Given the description of an element on the screen output the (x, y) to click on. 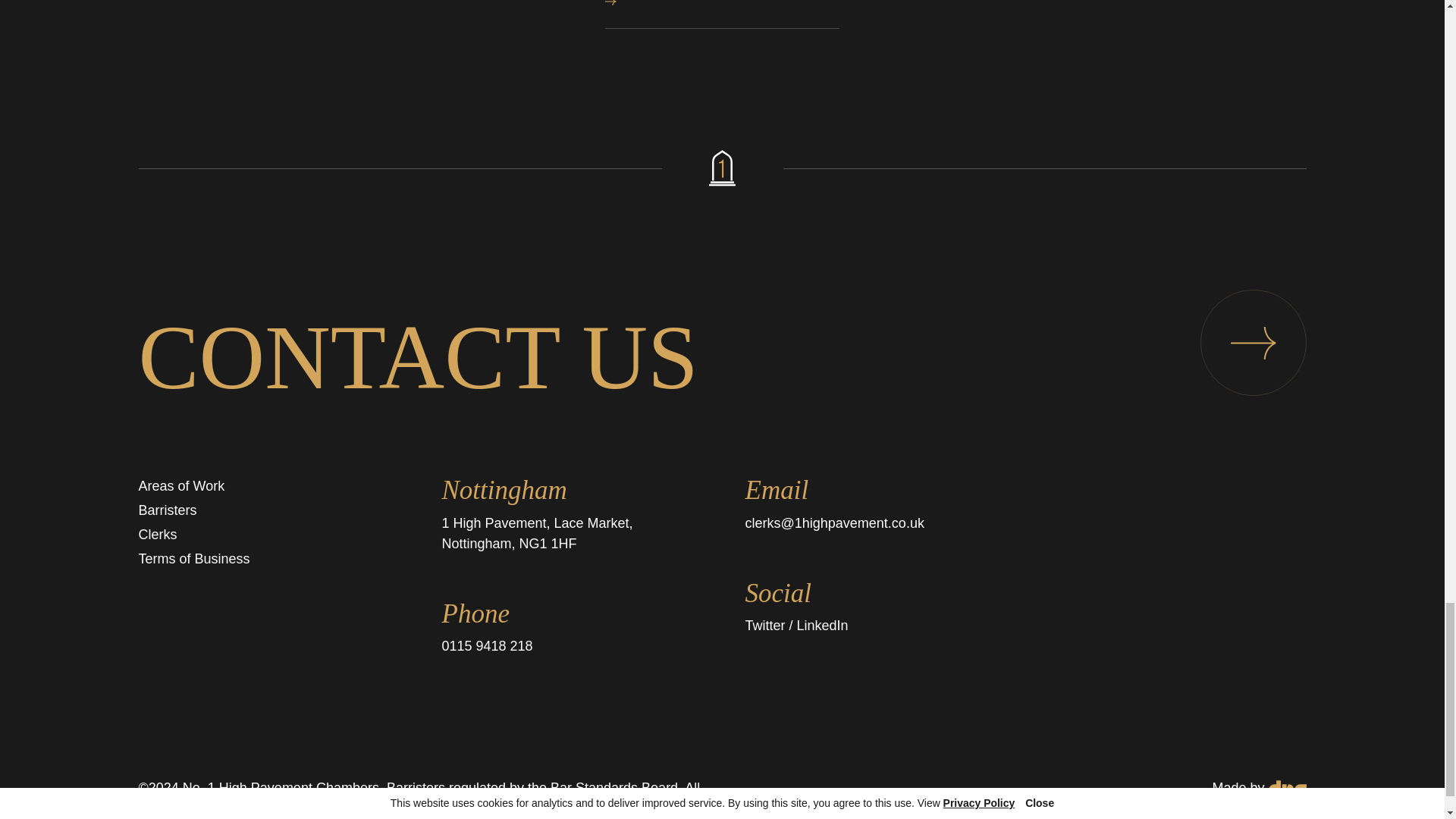
CONTACT US (722, 357)
Clerks (157, 534)
Areas of Work (722, 14)
Barristers (181, 485)
